Given the description of an element on the screen output the (x, y) to click on. 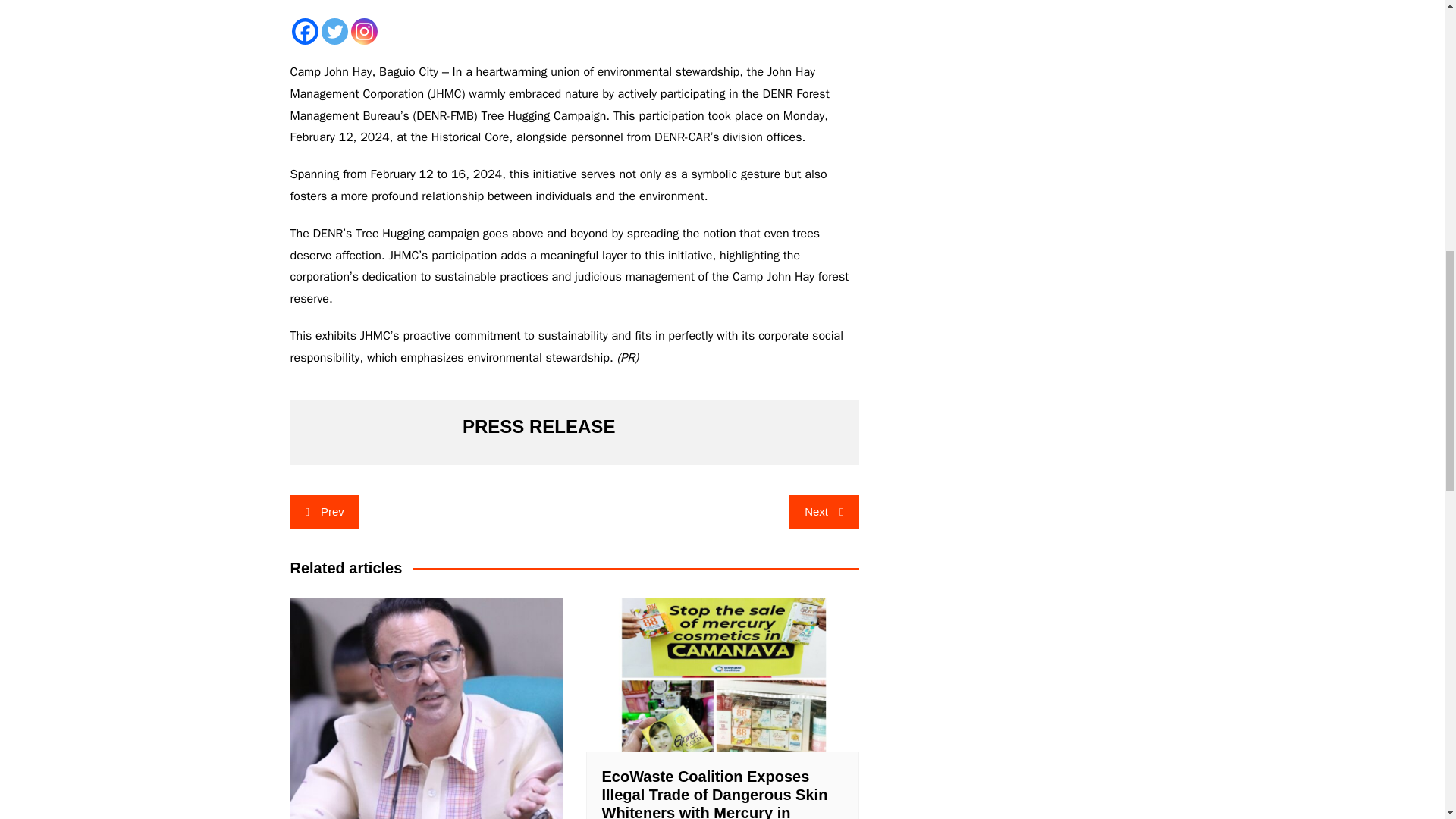
Instagram (363, 31)
Facebook (304, 31)
Twitter (334, 31)
